Given the description of an element on the screen output the (x, y) to click on. 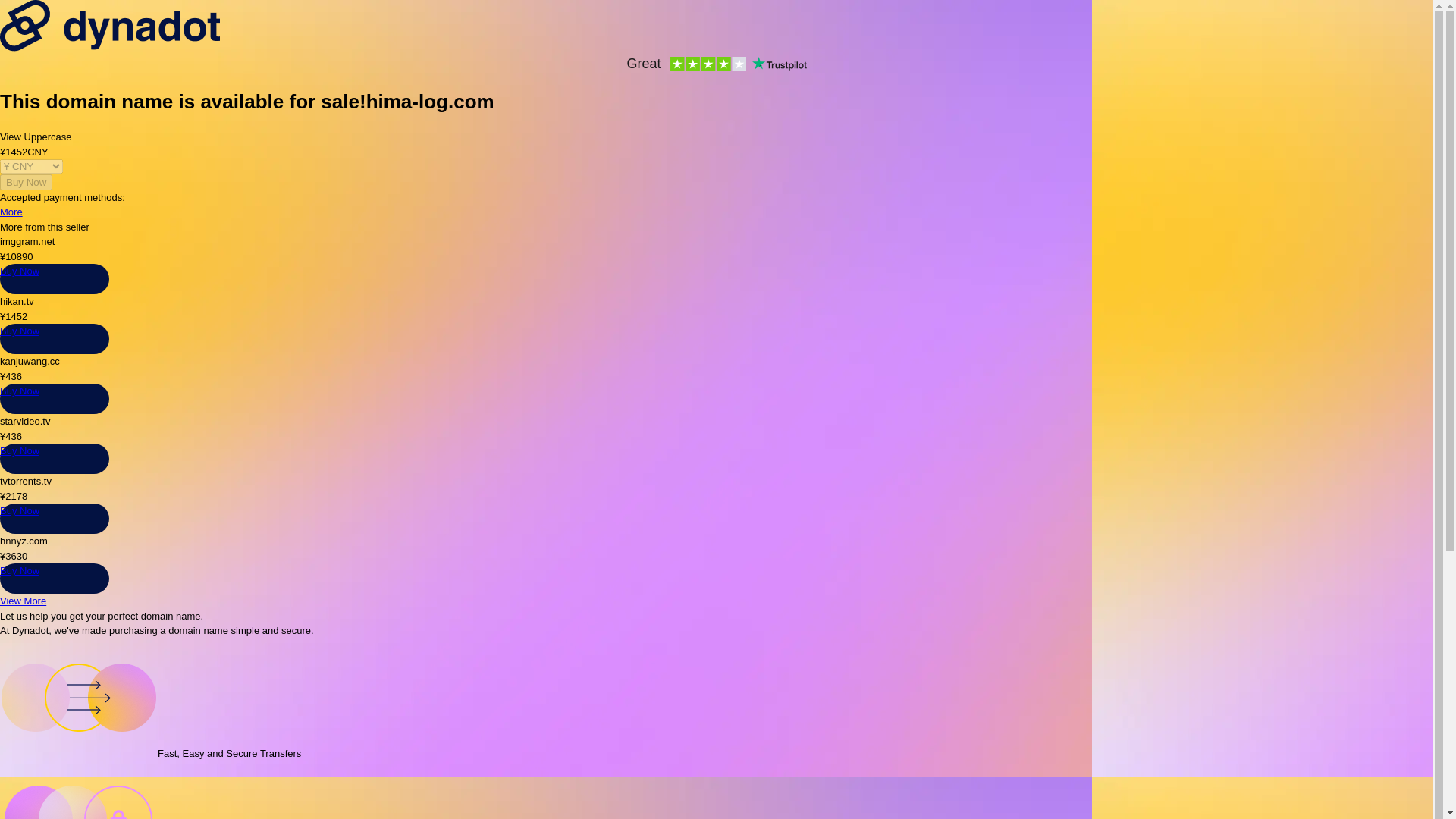
Buy Now (26, 182)
Buy Now (19, 270)
Buy Now (19, 570)
Buy Now (19, 510)
Buy Now (19, 330)
Buy Now (19, 450)
Buy Now (19, 390)
Customer reviews powered by Trustpilot (716, 65)
More (11, 211)
View More (23, 600)
